Given the description of an element on the screen output the (x, y) to click on. 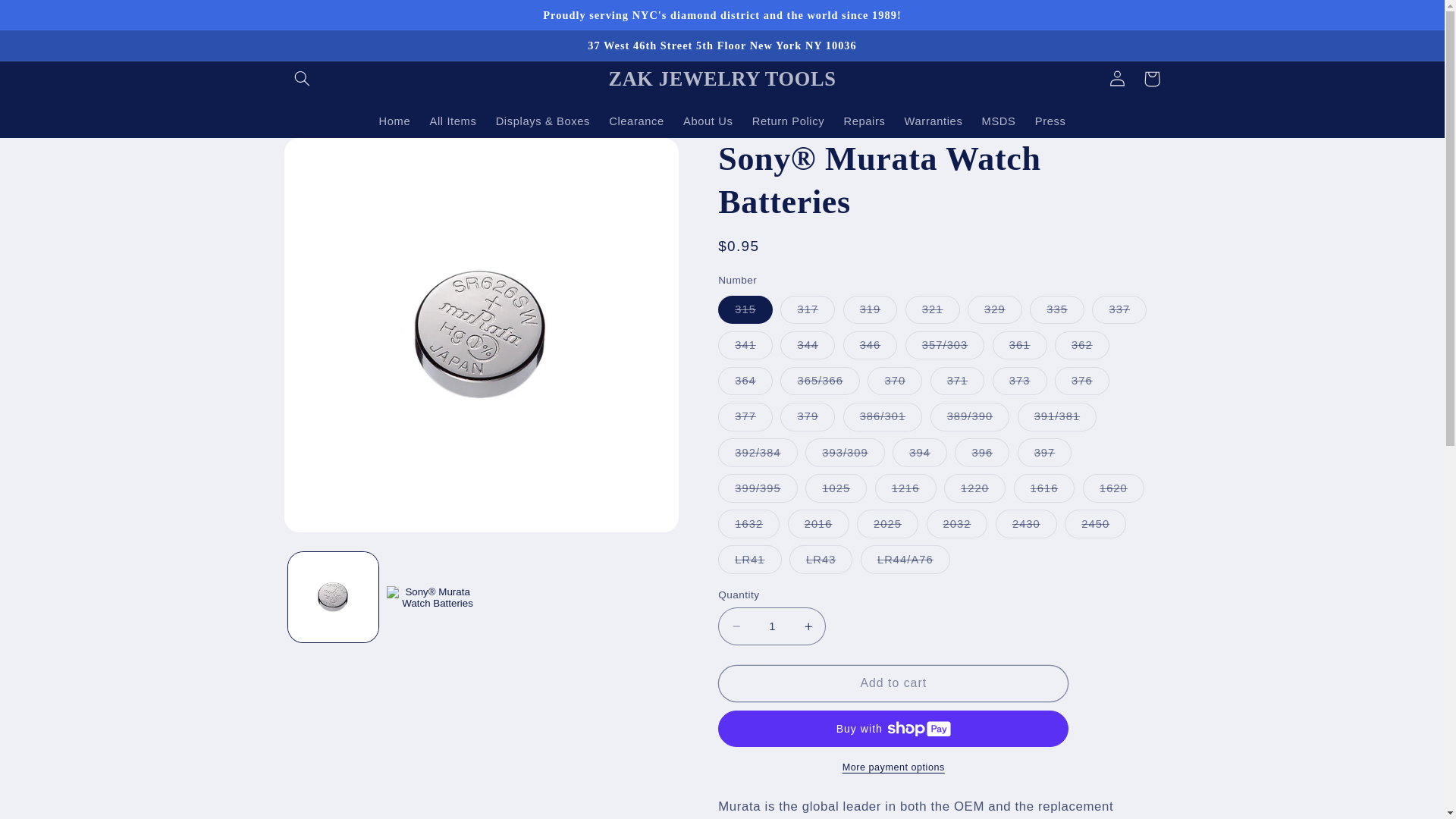
Return Policy (788, 121)
Press (1050, 121)
Warranties (933, 121)
MSDS (998, 121)
All Items (453, 121)
Cart (1151, 78)
